Given the description of an element on the screen output the (x, y) to click on. 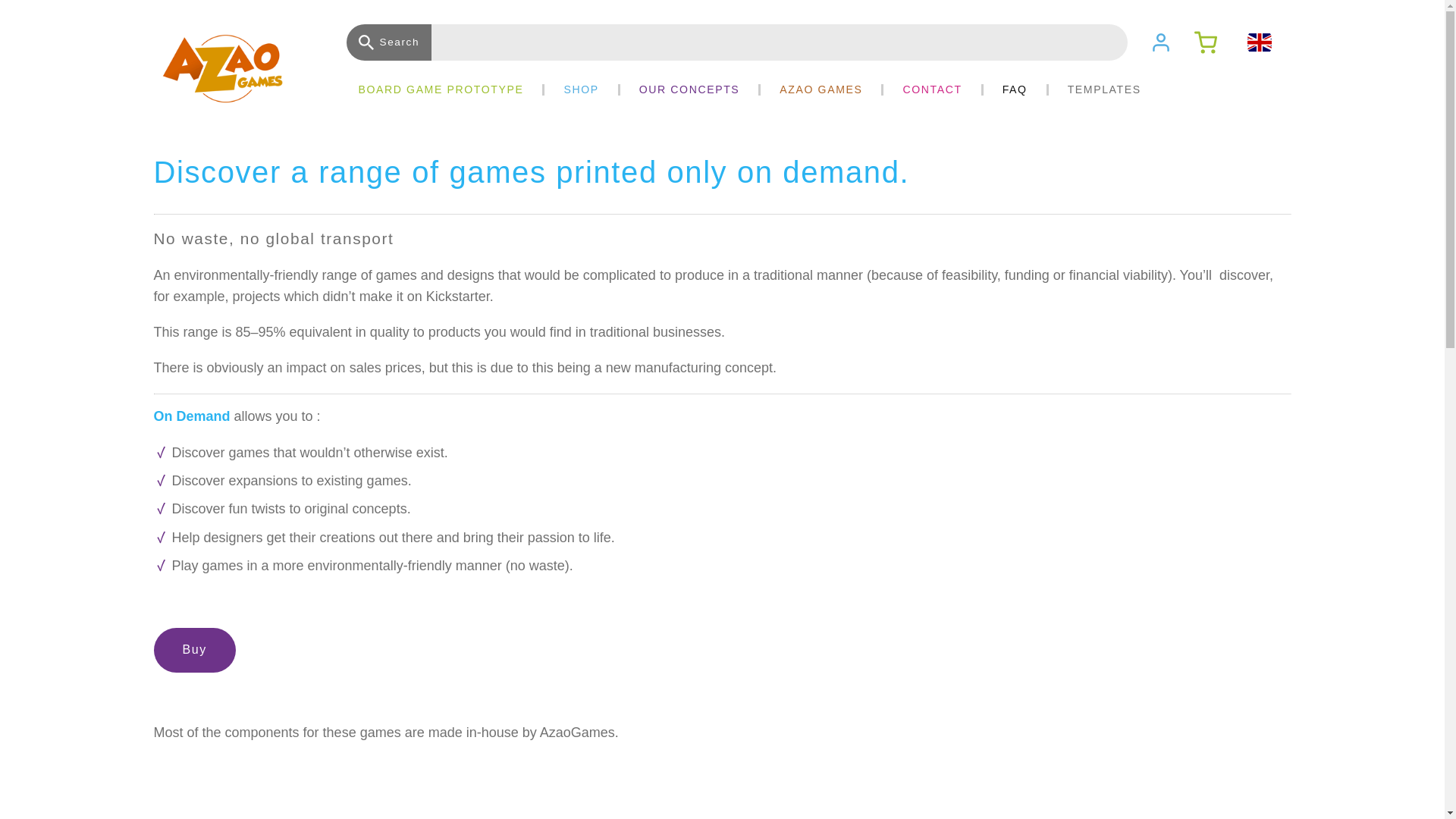
CONTACT (931, 89)
OUR CONCEPTS (689, 89)
EN (1258, 42)
TEMPLATES (1104, 89)
Buy (193, 650)
FAQ (1015, 89)
AZAO GAMES (819, 89)
BOARD GAME PROTOTYPE (440, 89)
See the cart (1208, 42)
My account (1172, 42)
SHOP (580, 89)
